Given the description of an element on the screen output the (x, y) to click on. 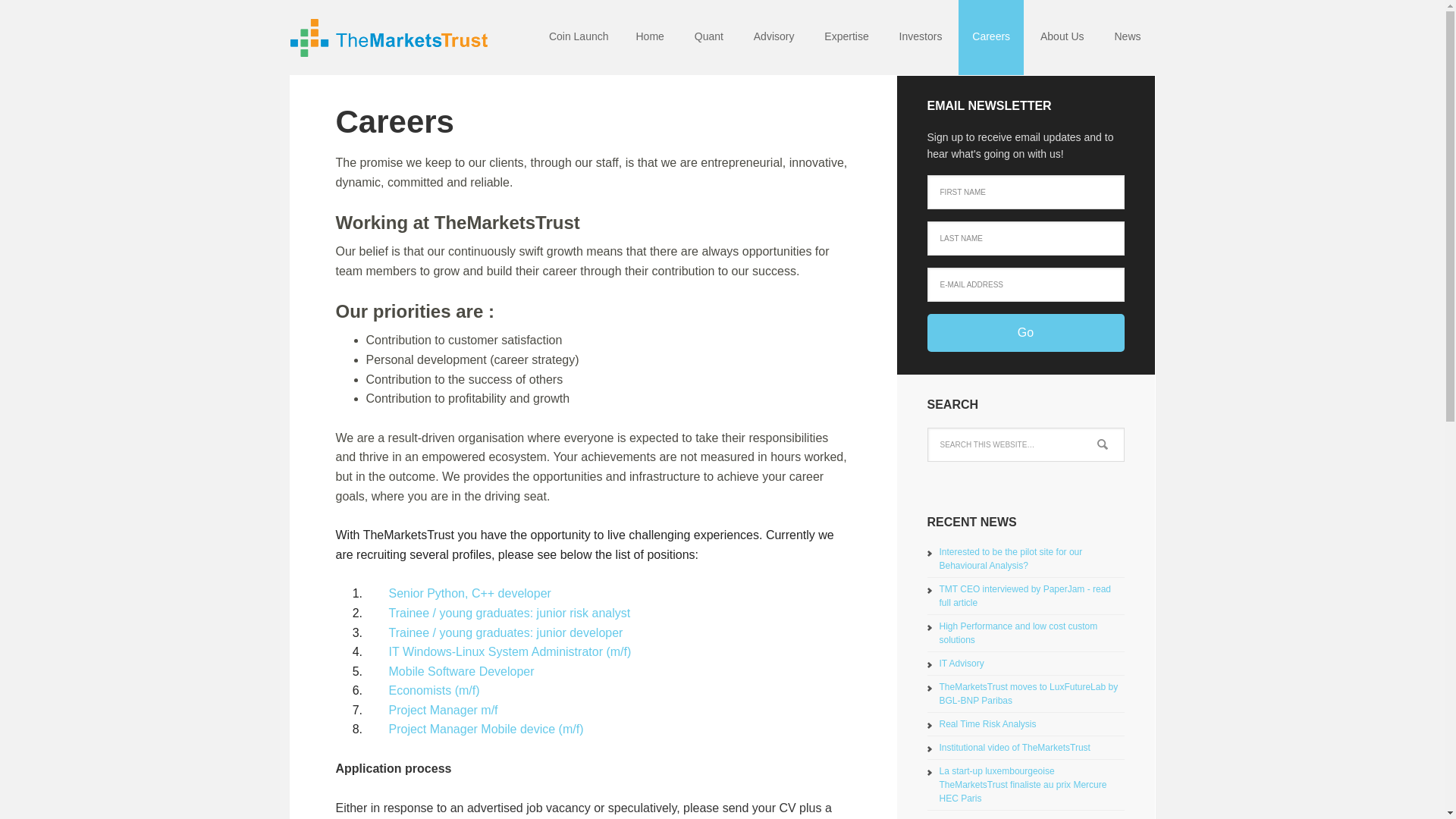
Permalink to Institutional video of TheMarketsTrust (1014, 747)
Coin Launch (579, 37)
Permalink to Real Time Risk Analysis (987, 724)
Go (1025, 332)
Expertise (846, 37)
TheMarketsTrust (387, 38)
Permalink to High Performance and low cost custom solutions (1018, 632)
TMT CEO interviewed by PaperJam - read full article (1024, 595)
Go (1025, 332)
First Name (1025, 192)
Real Time Risk Analysis (987, 724)
Investors (920, 37)
